Given the description of an element on the screen output the (x, y) to click on. 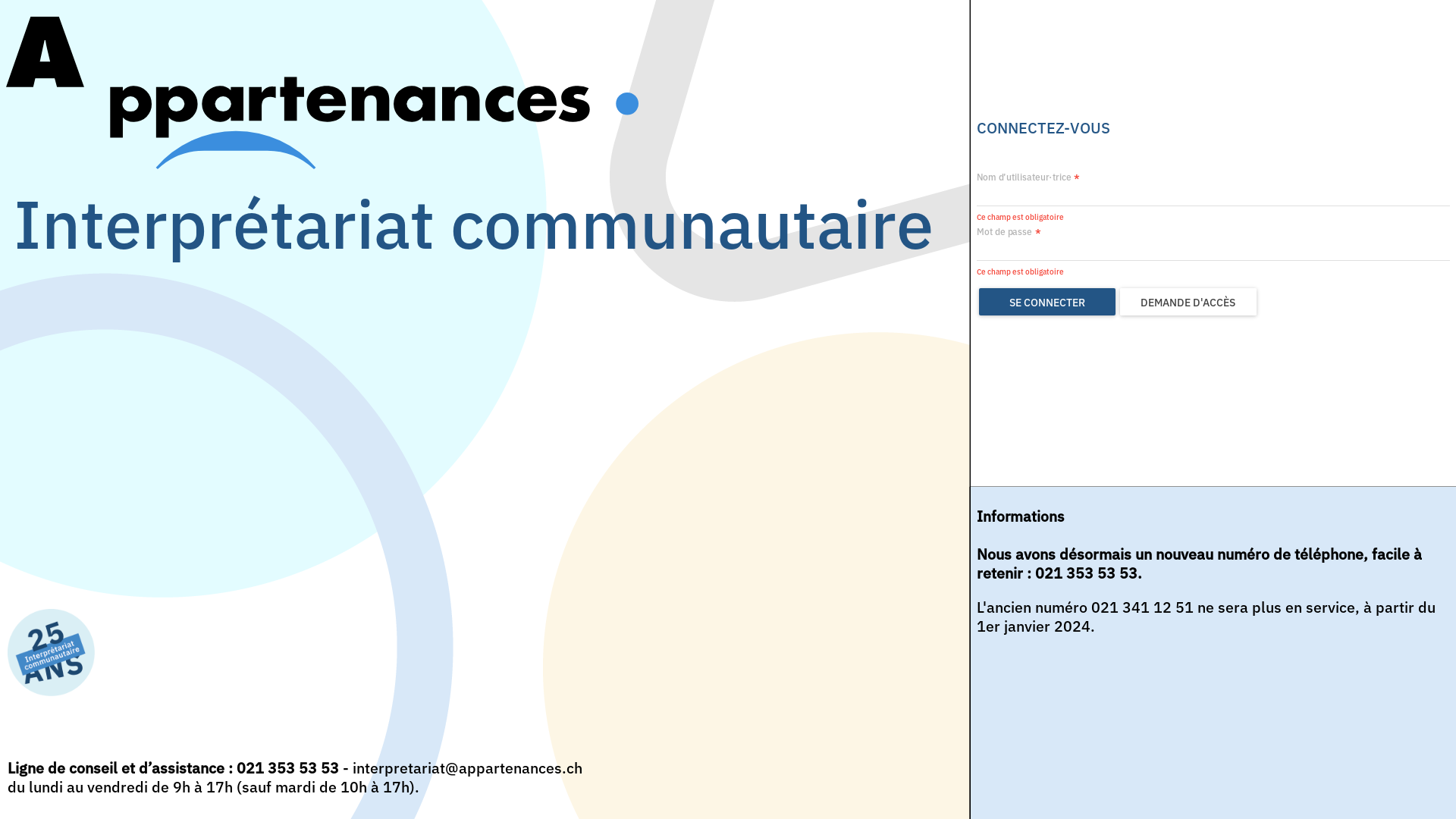
SE CONNECTER Element type: text (1047, 301)
